Given the description of an element on the screen output the (x, y) to click on. 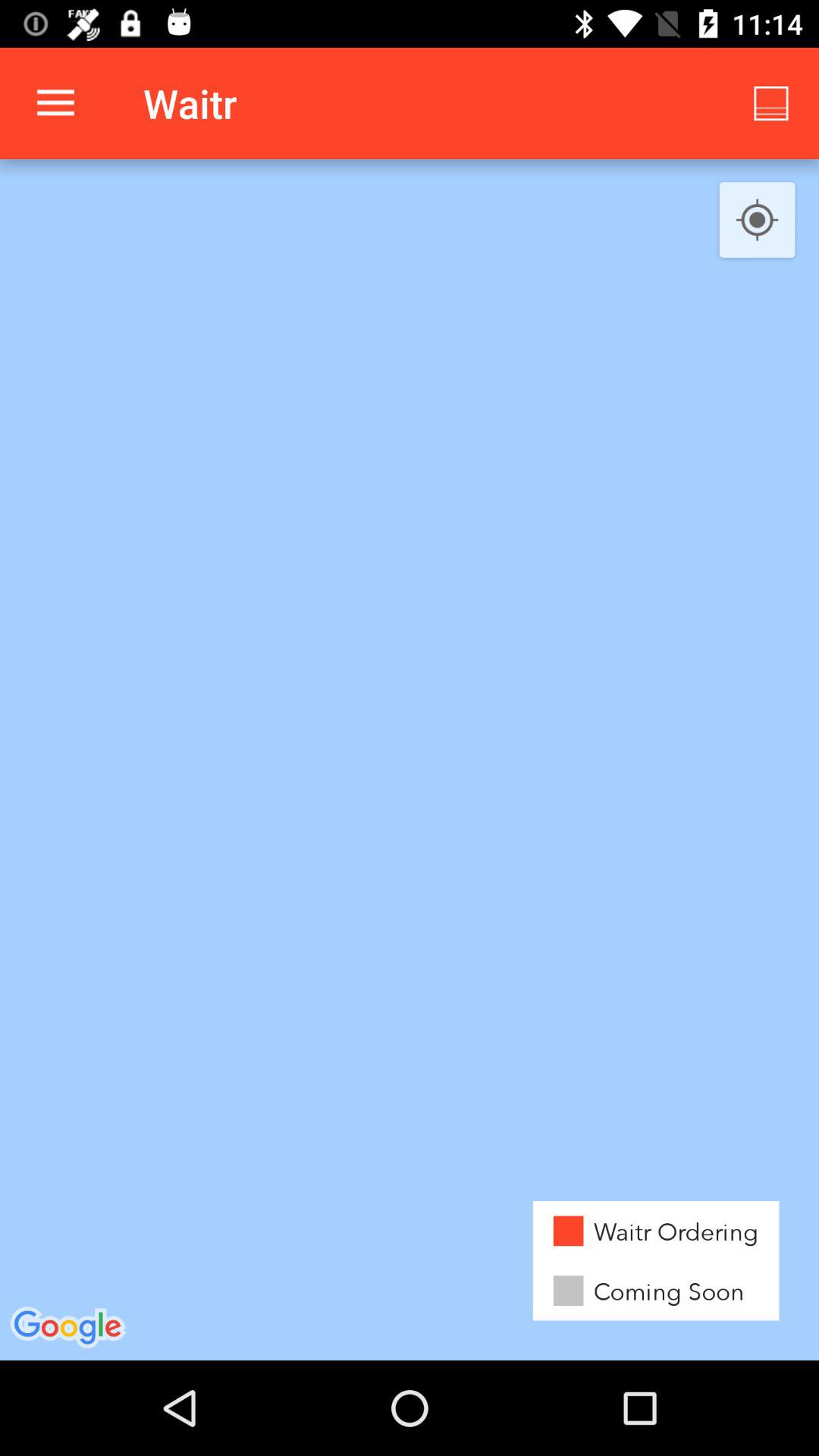
press the app to the left of waitr app (55, 103)
